Given the description of an element on the screen output the (x, y) to click on. 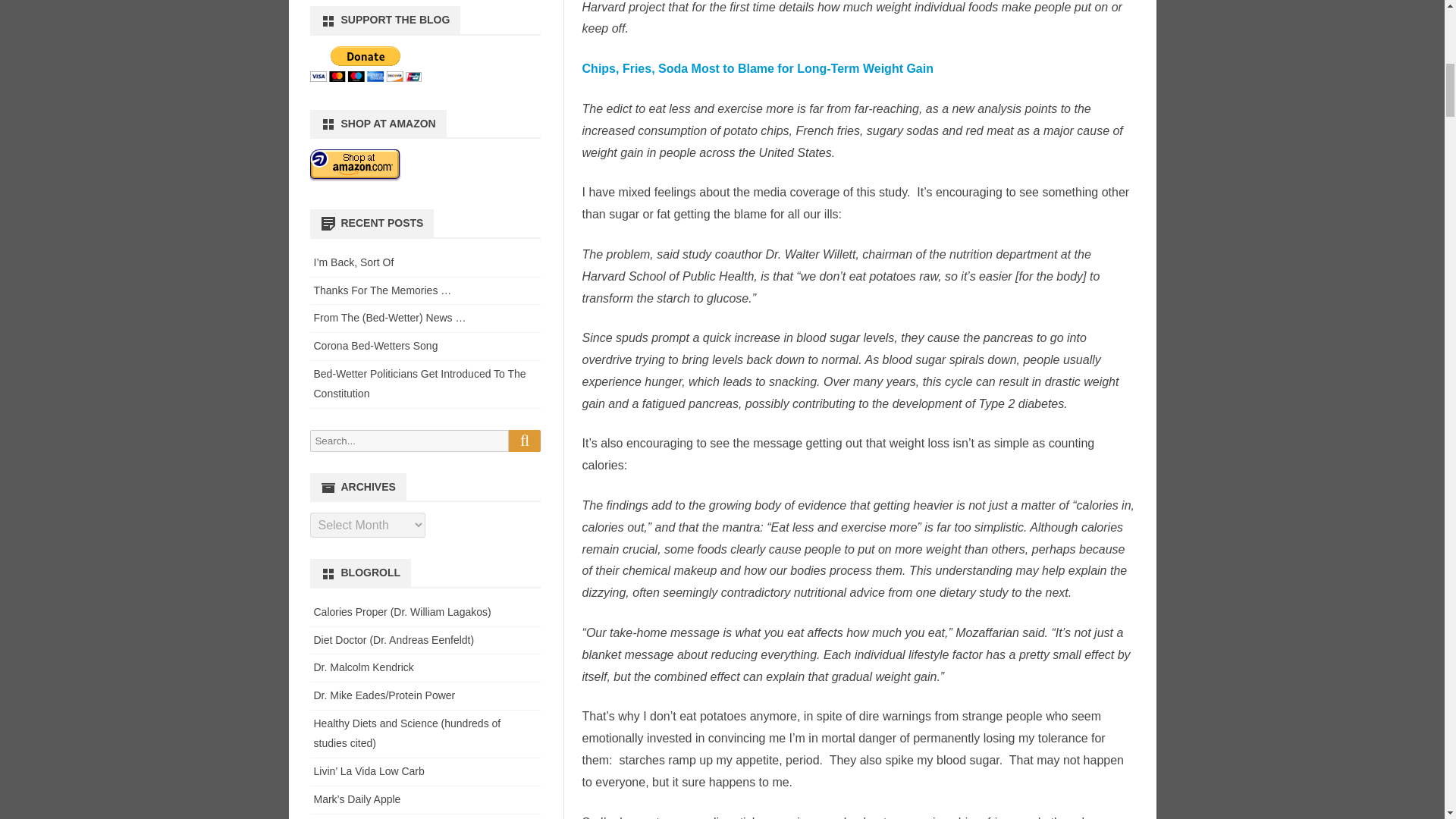
Chips, Fries, Soda Most to Blame for Long-Term Weight Gain (757, 68)
